Given the description of an element on the screen output the (x, y) to click on. 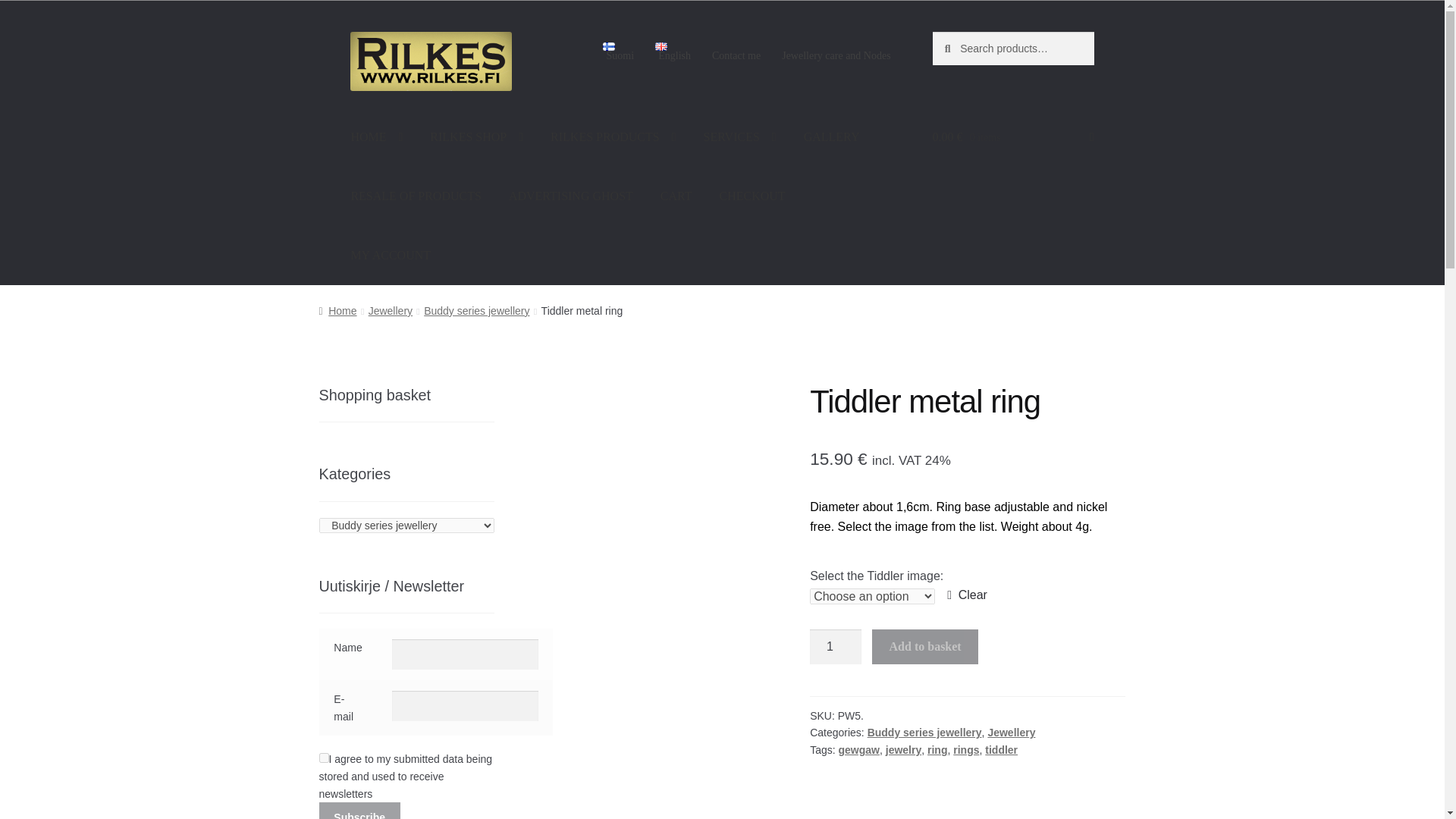
HOME (375, 137)
SERVICES (740, 137)
Subscribe (359, 810)
RILKES SHOP (476, 137)
1 (835, 646)
English (673, 51)
Contact me (736, 56)
yes (323, 757)
RILKES PRODUCTS (612, 137)
View your shopping basket (1013, 137)
Jewellery care and Nodes (836, 56)
Suomi (618, 51)
